Given the description of an element on the screen output the (x, y) to click on. 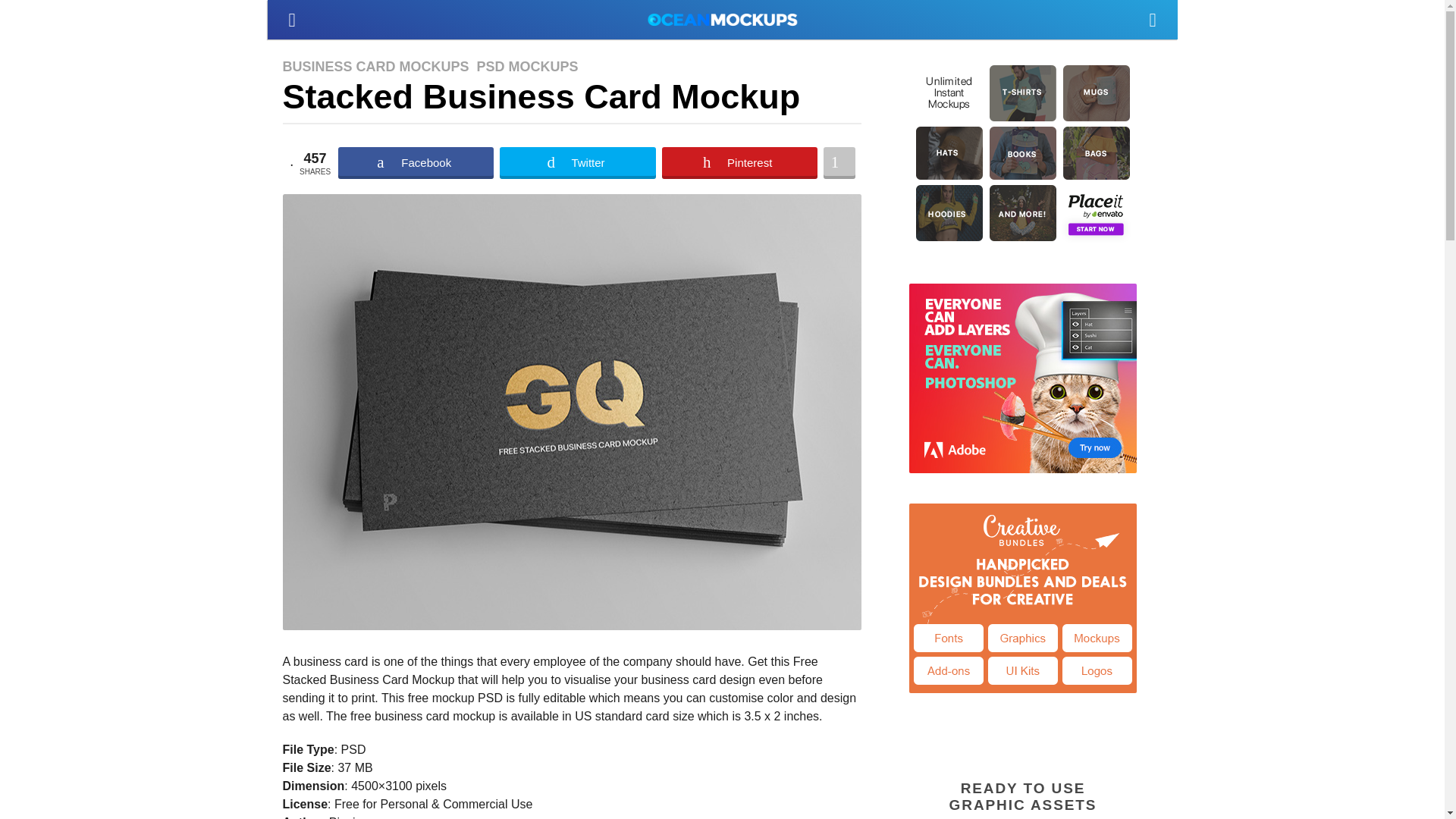
Share on More Button (840, 163)
Share on Facebook (415, 163)
Share on Twitter (577, 163)
Share on Pinterest (739, 163)
